Given the description of an element on the screen output the (x, y) to click on. 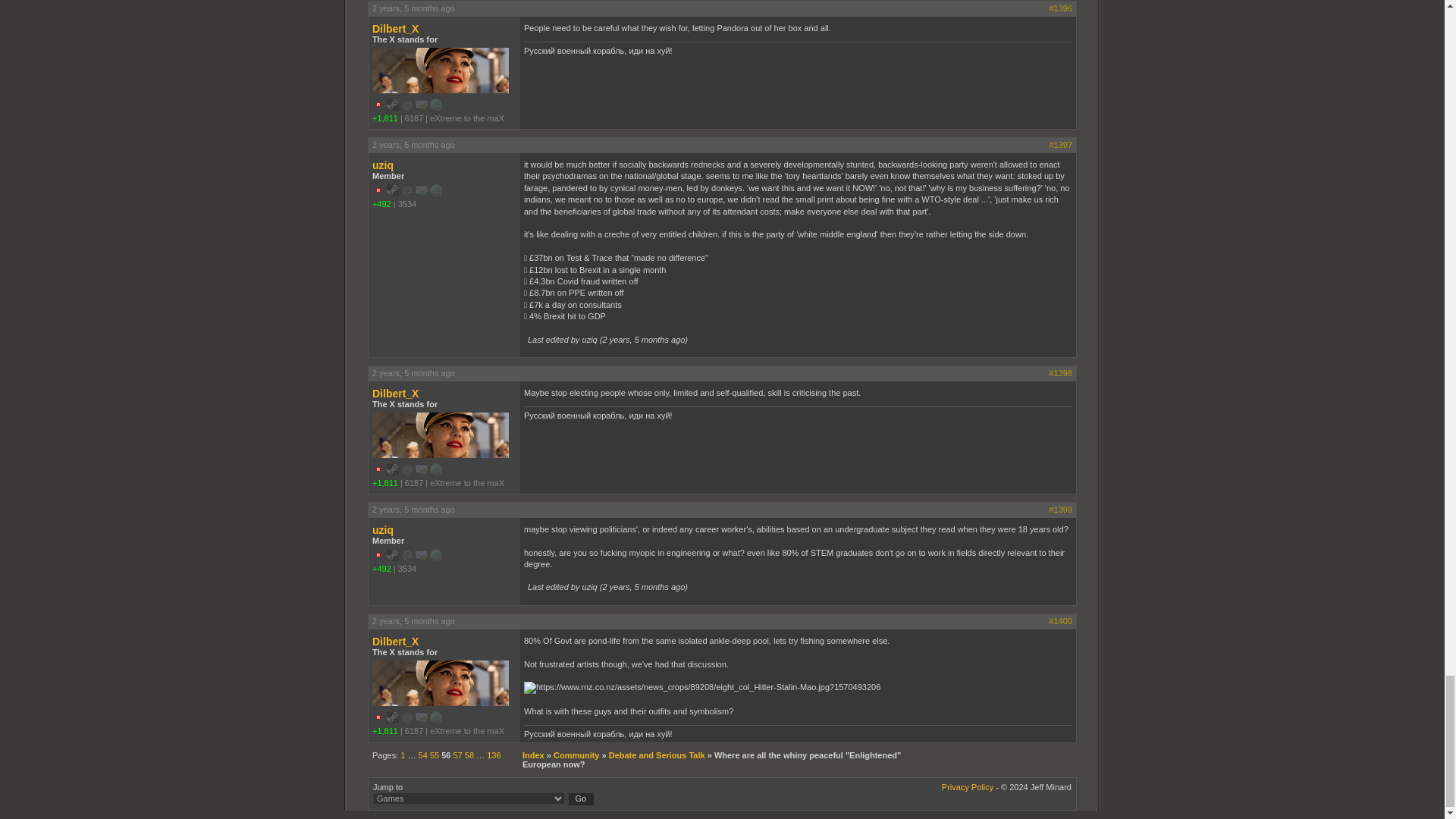
 Go  (580, 798)
